Given the description of an element on the screen output the (x, y) to click on. 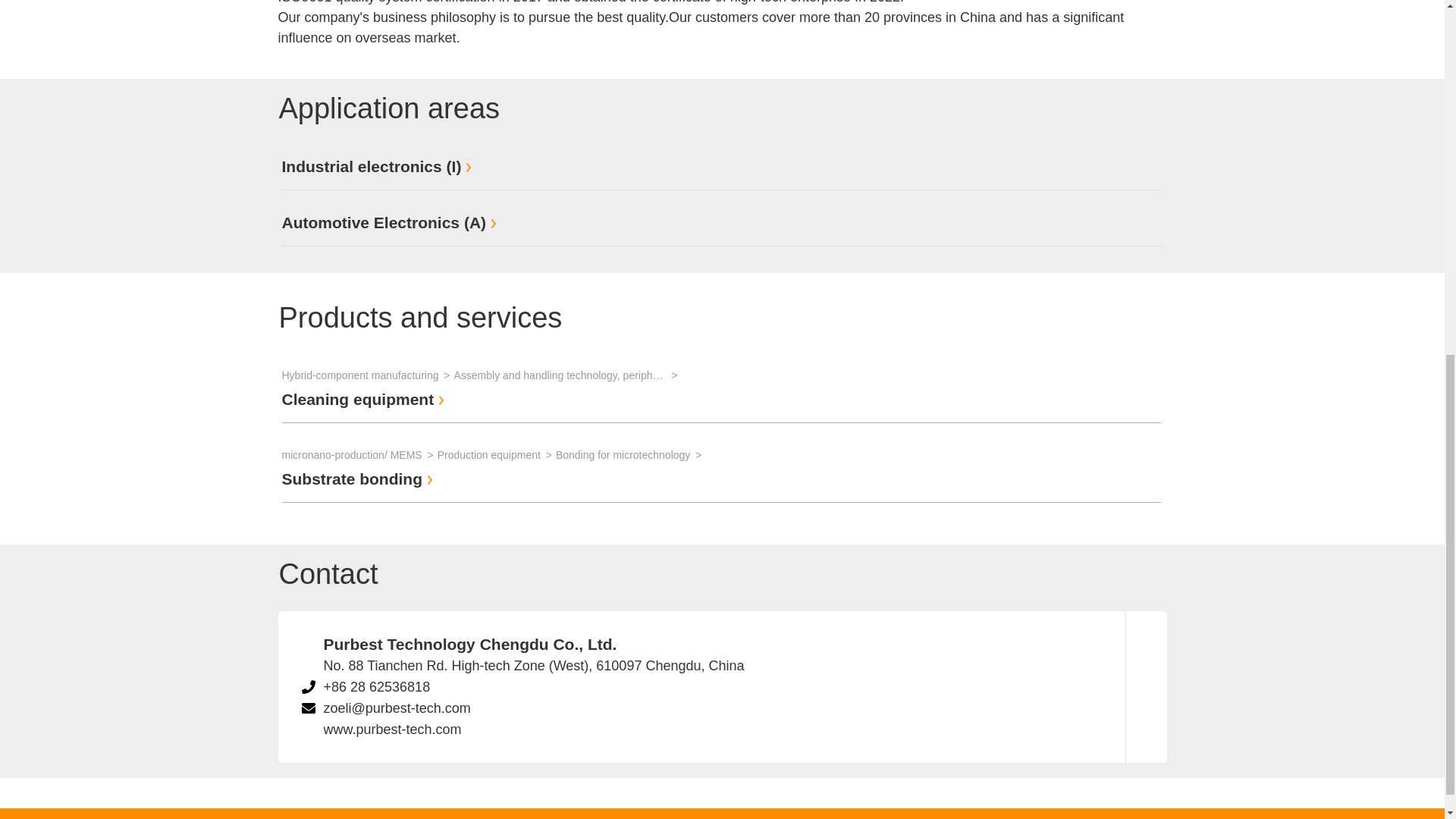
Production equipment (497, 454)
www.purbest-tech.com (392, 729)
Substrate bonding (360, 478)
Cleaning equipment (365, 398)
Assembly and handling technology, periphery (566, 375)
Bonding for microtechnology (630, 454)
Hybrid-component manufacturing (368, 375)
